Given the description of an element on the screen output the (x, y) to click on. 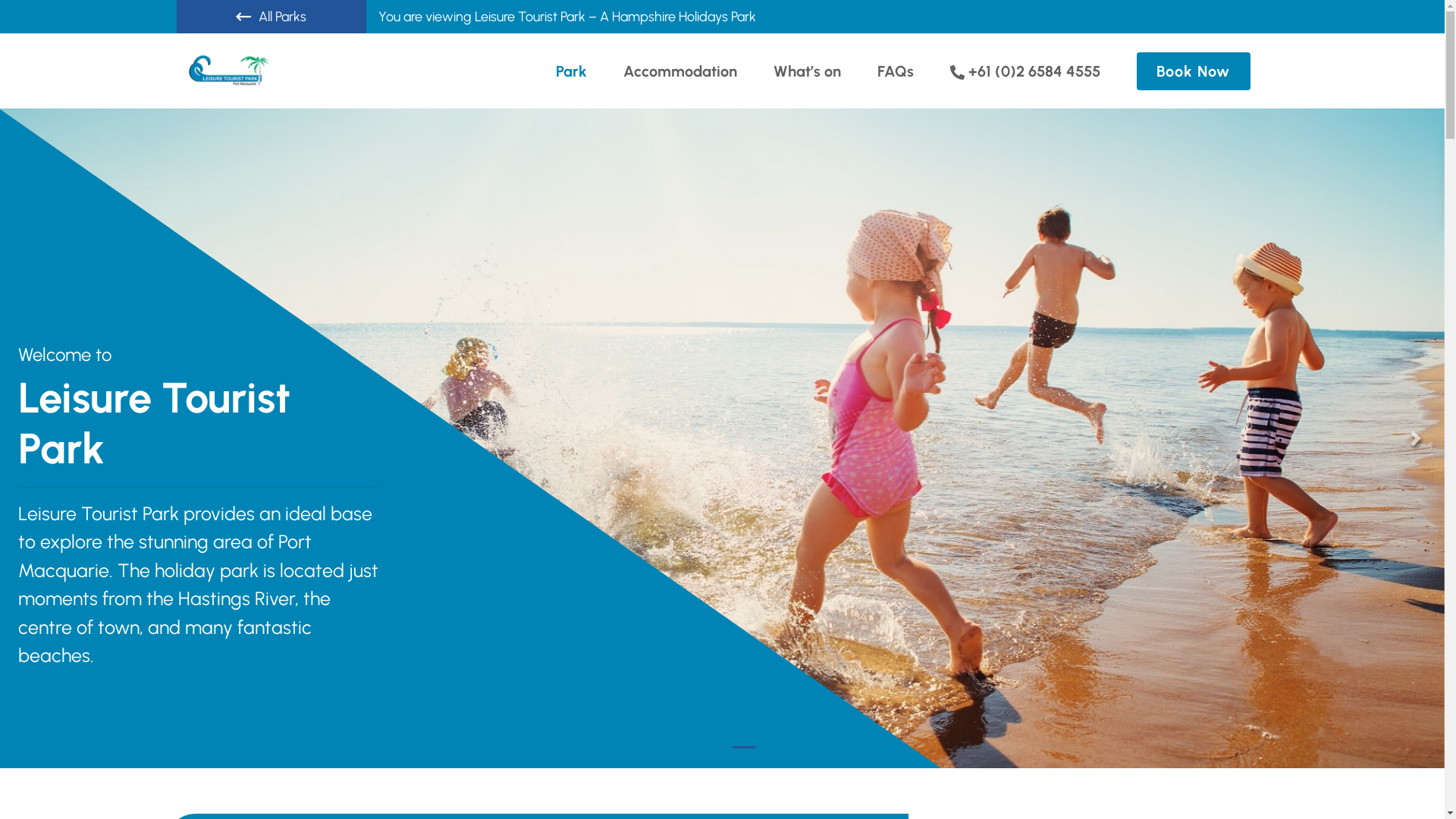
Park Element type: text (570, 70)
FAQs Element type: text (895, 70)
Previous Element type: text (28, 438)
+61 (0)2 6584 4555 Element type: text (1024, 70)
All Parks Element type: text (270, 16)
Next Element type: text (1415, 438)
Accommodation Element type: text (680, 70)
Book Now Element type: text (1192, 71)
